Given the description of an element on the screen output the (x, y) to click on. 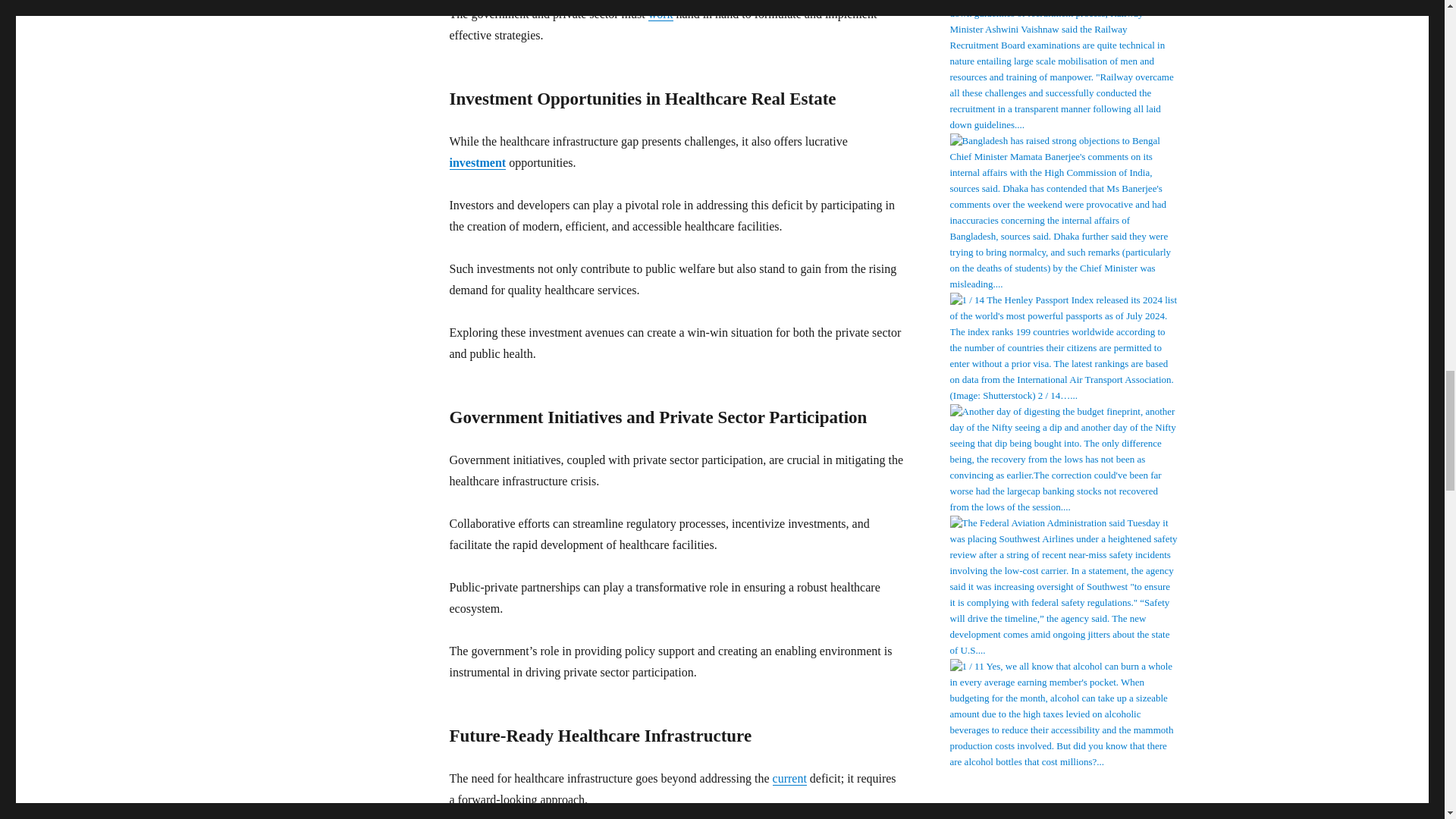
work (659, 13)
investment (476, 162)
current (789, 778)
